Given the description of an element on the screen output the (x, y) to click on. 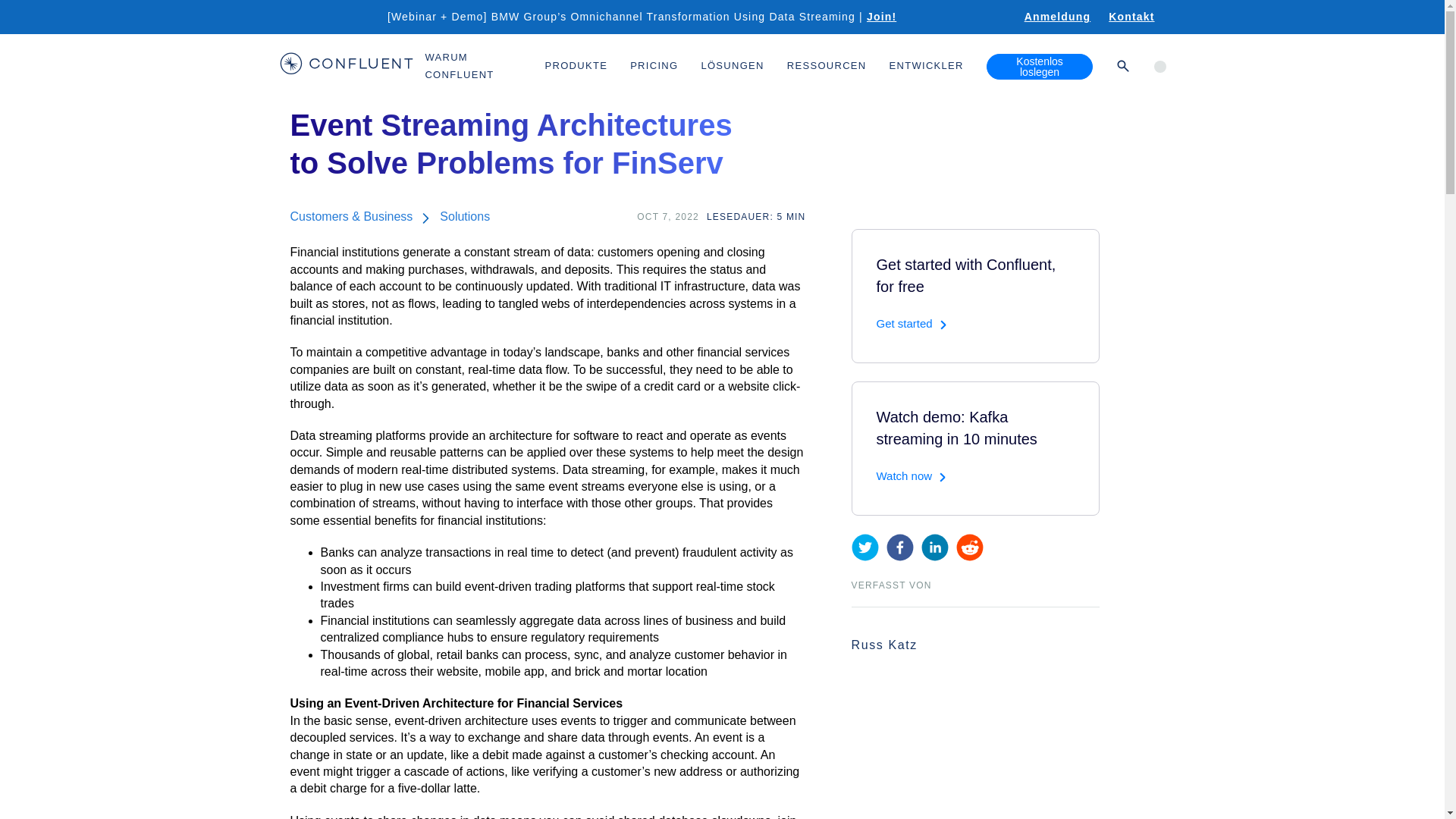
View all posts by Russ Katz (883, 645)
Anmeldung (1057, 16)
Confluent (346, 65)
Join! (890, 16)
Kontakt (1131, 16)
